Given the description of an element on the screen output the (x, y) to click on. 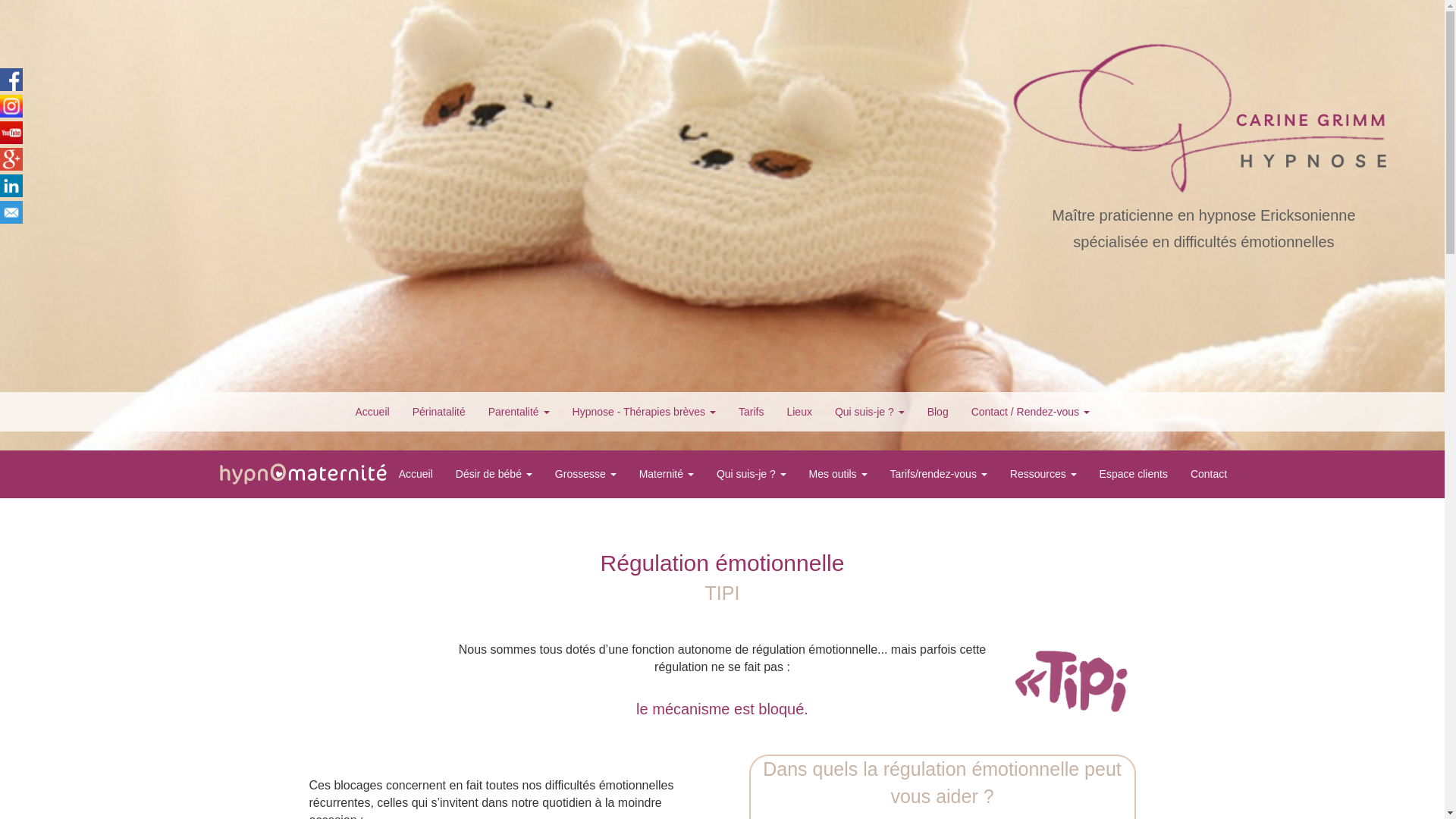
Contact Element type: text (1208, 473)
Tarifs Element type: text (751, 411)
Tarifs/rendez-vous Element type: text (938, 473)
Blog Element type: text (938, 411)
Qui suis-je ? Element type: text (751, 473)
Ressources Element type: text (1043, 473)
Accueil Element type: text (372, 411)
Contact / Rendez-vous Element type: text (1030, 411)
Mes outils Element type: text (837, 473)
Espace clients Element type: text (1133, 473)
Grossesse Element type: text (585, 473)
Accueil Element type: text (324, 474)
Qui suis-je ? Element type: text (869, 411)
Lieux Element type: text (798, 411)
